Given the description of an element on the screen output the (x, y) to click on. 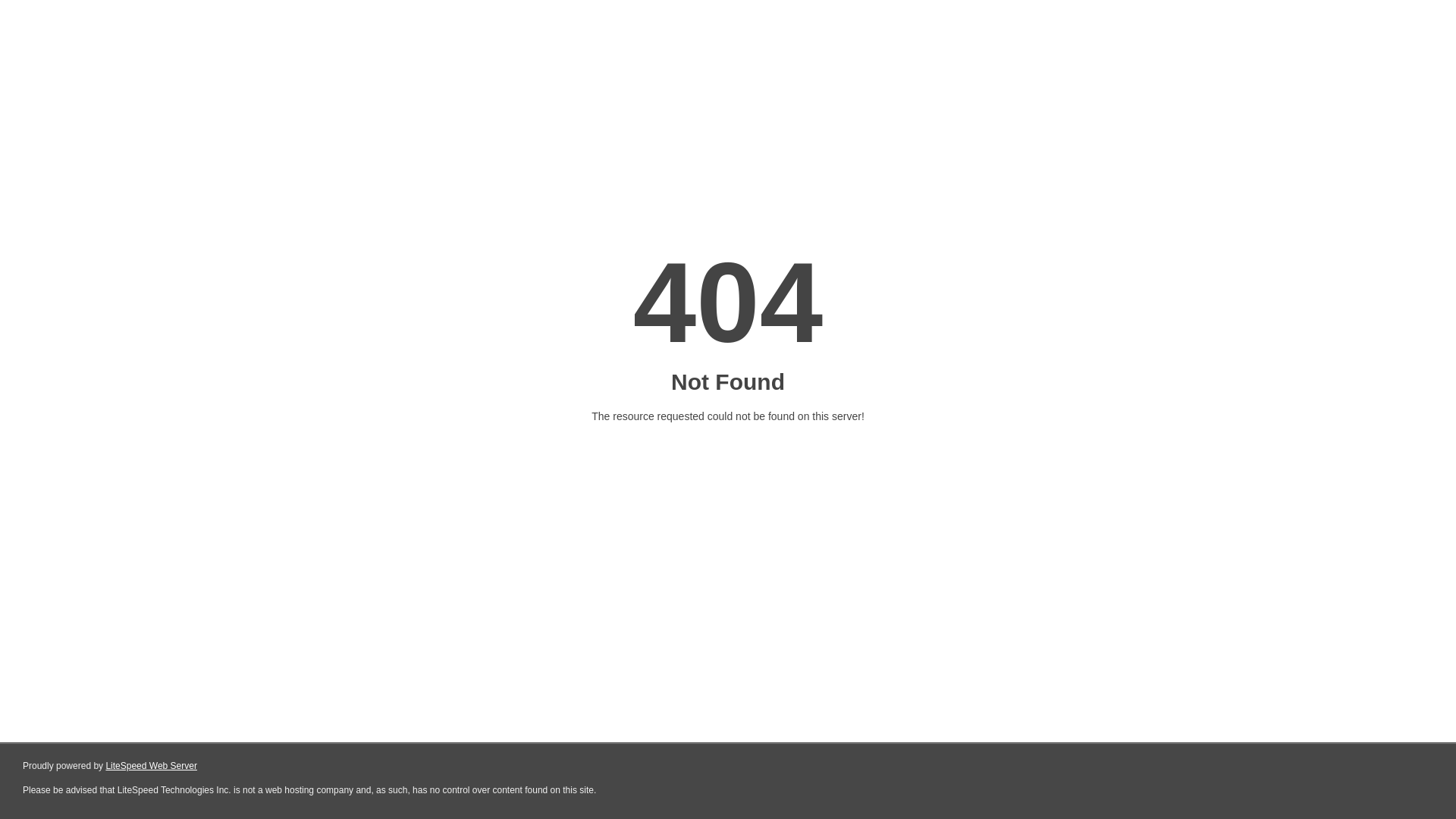
LiteSpeed Web Server (150, 765)
